Given the description of an element on the screen output the (x, y) to click on. 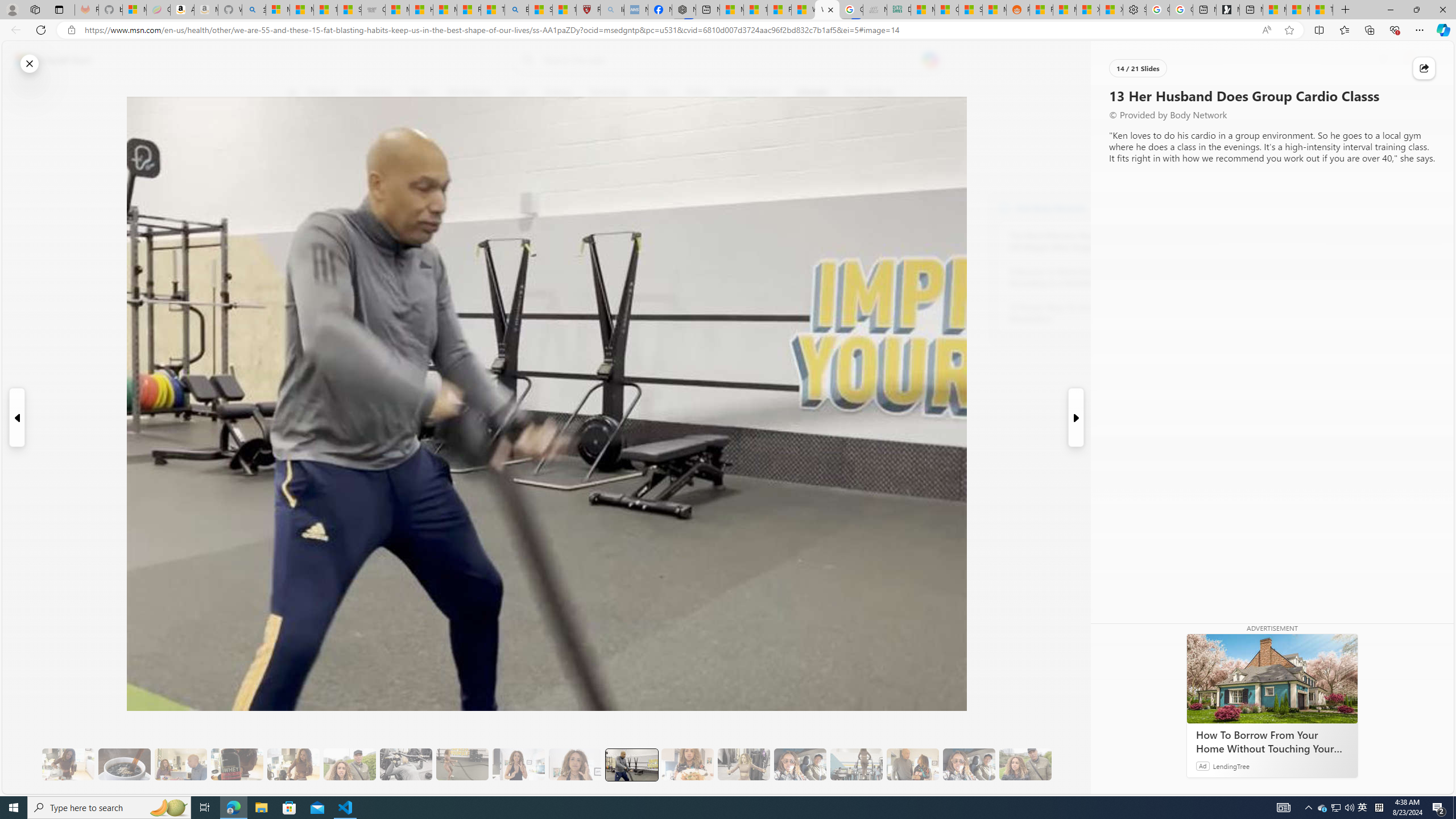
Body Network (1004, 207)
6 Since Eating More Protein Her Training Has Improved (237, 764)
11 They Eat More Protein for Breakfast (518, 764)
Next Slide (1076, 417)
Robert H. Shmerling, MD - Harvard Health (588, 9)
